Given the description of an element on the screen output the (x, y) to click on. 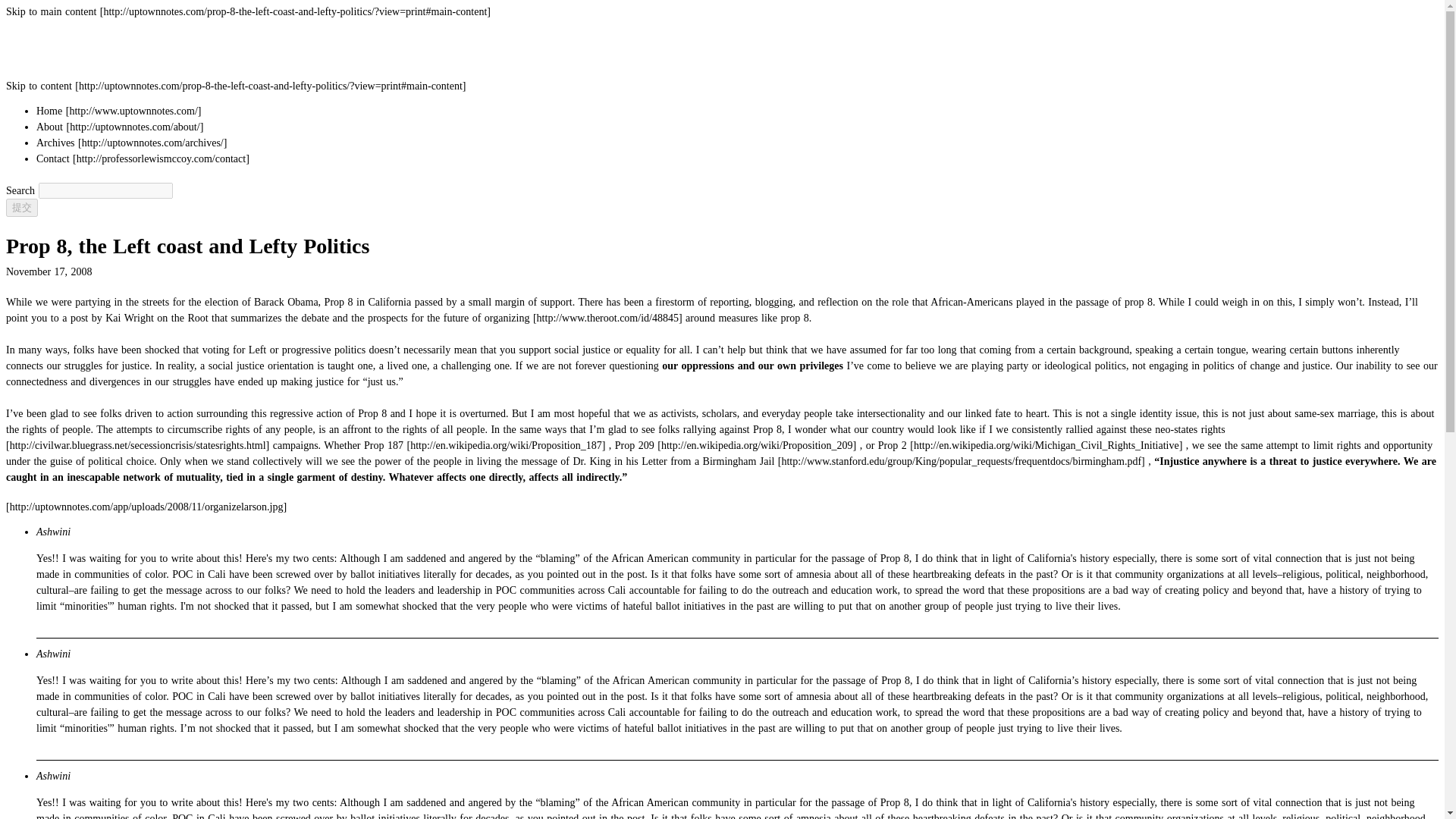
Search (21, 208)
Prop 187 (486, 445)
Skip to content (235, 85)
the debate and the prospects for the future of organizing (485, 317)
Home (118, 111)
Prop 2 (1031, 445)
Archives (131, 142)
Contact (142, 158)
states rights (615, 437)
About (119, 126)
